Given the description of an element on the screen output the (x, y) to click on. 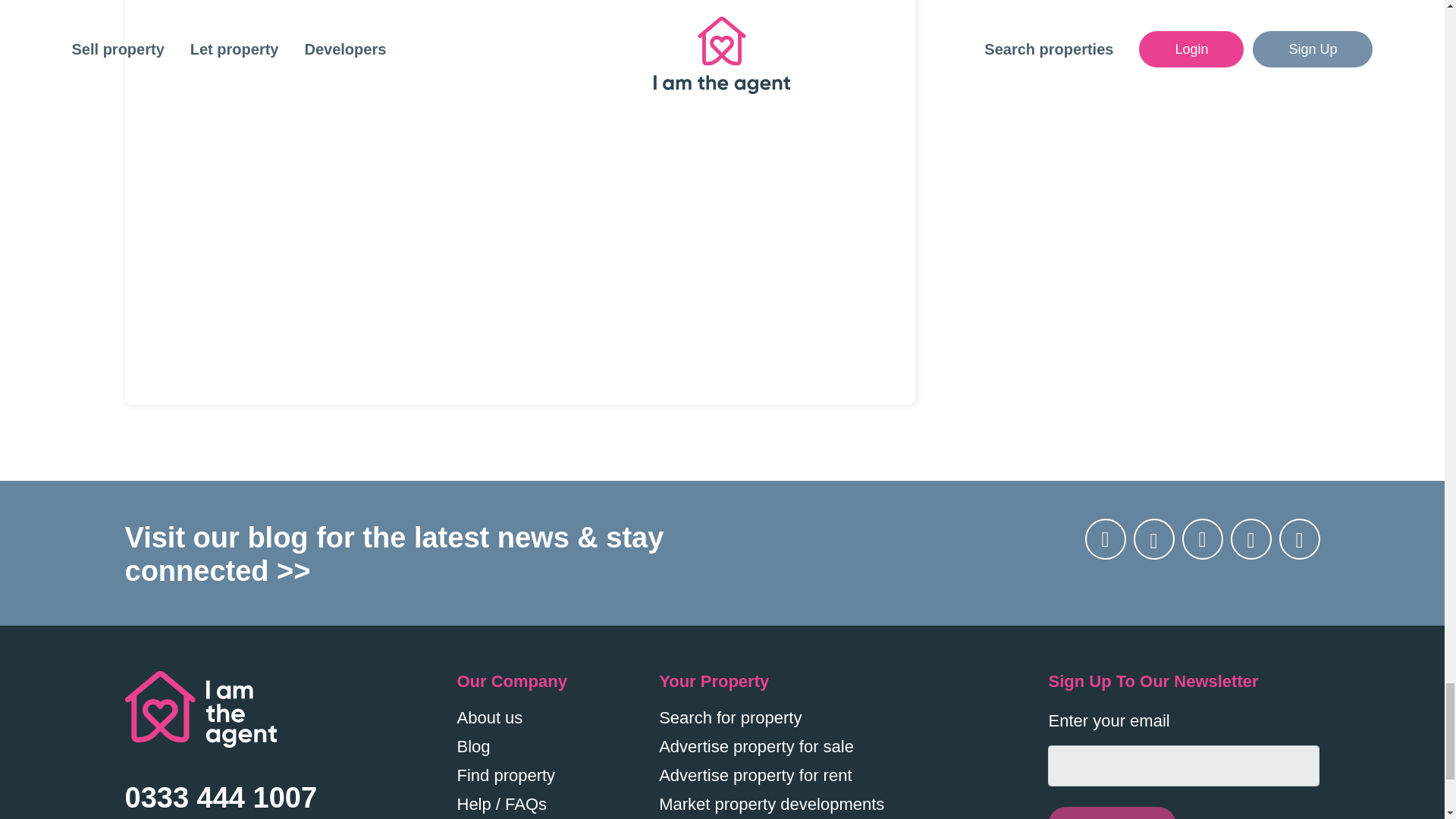
Search for property (730, 717)
Blog (473, 746)
Find property (505, 774)
About us (489, 717)
